Given the description of an element on the screen output the (x, y) to click on. 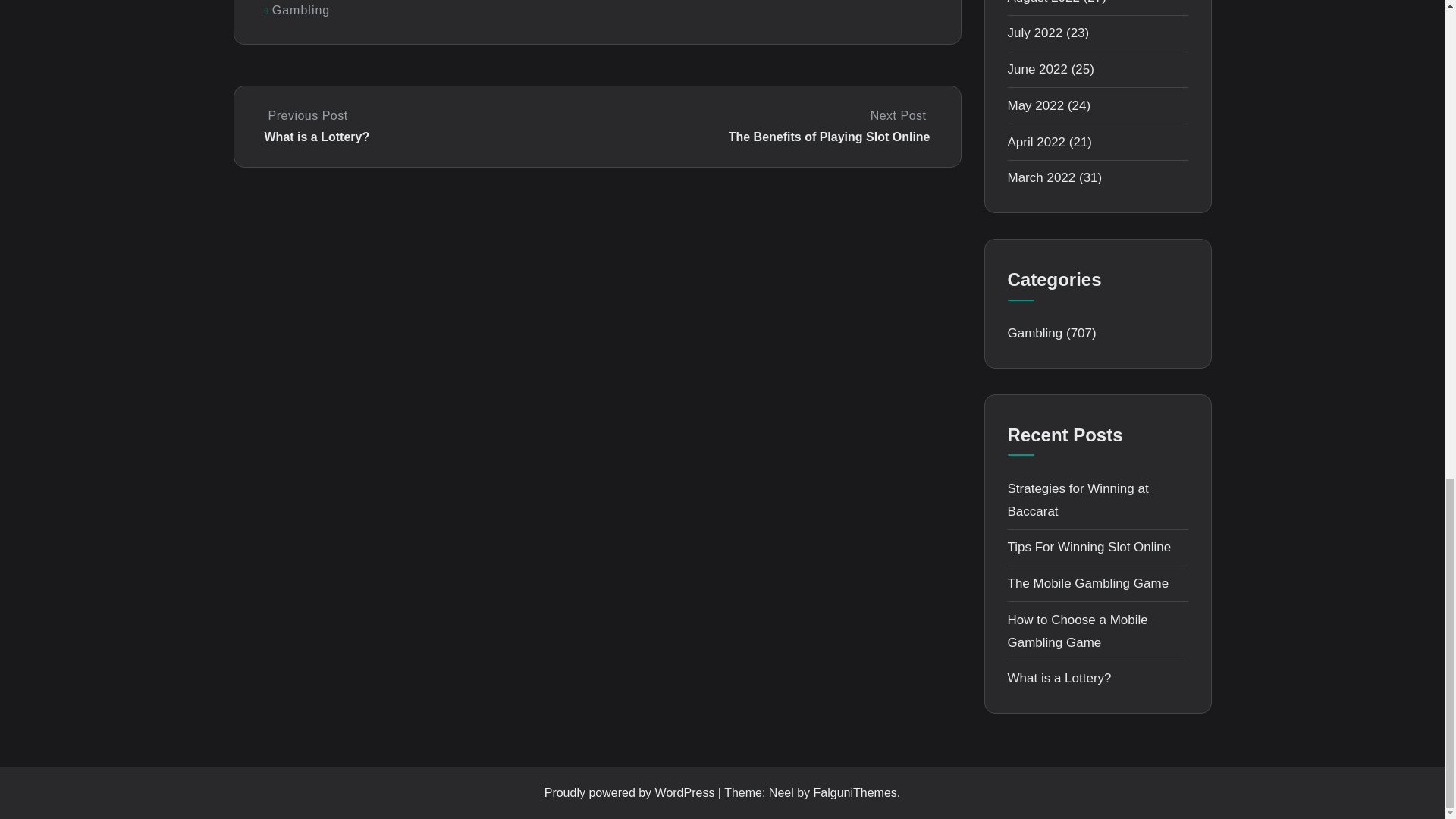
August 2022 (1042, 2)
Gambling (301, 10)
July 2022 (1034, 32)
